Given the description of an element on the screen output the (x, y) to click on. 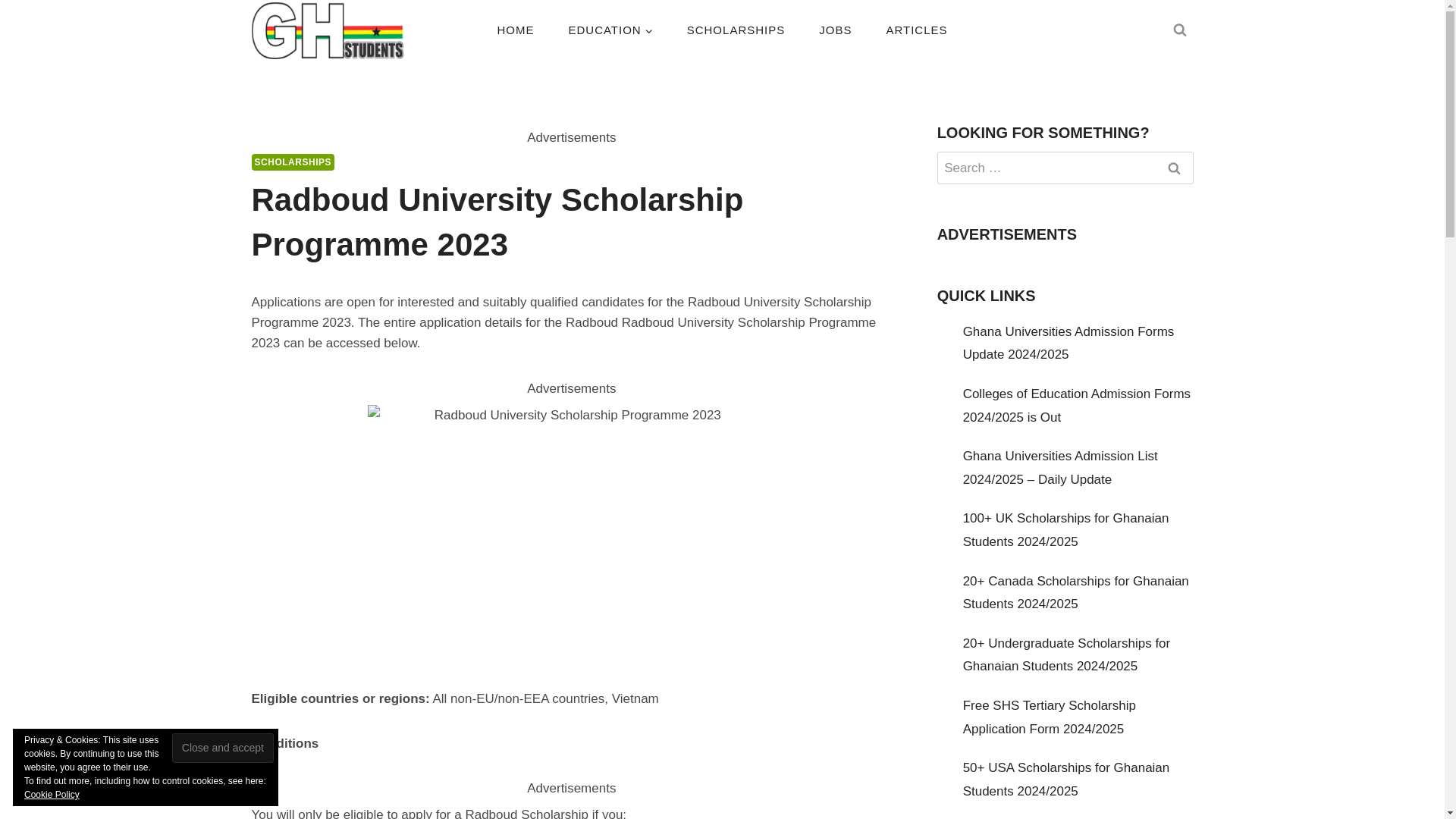
EDUCATION (610, 29)
SCHOLARSHIPS (292, 161)
Search (1174, 167)
ARTICLES (916, 29)
Close and accept (222, 747)
HOME (515, 29)
Search (1174, 167)
JOBS (835, 29)
SCHOLARSHIPS (735, 29)
